Given the description of an element on the screen output the (x, y) to click on. 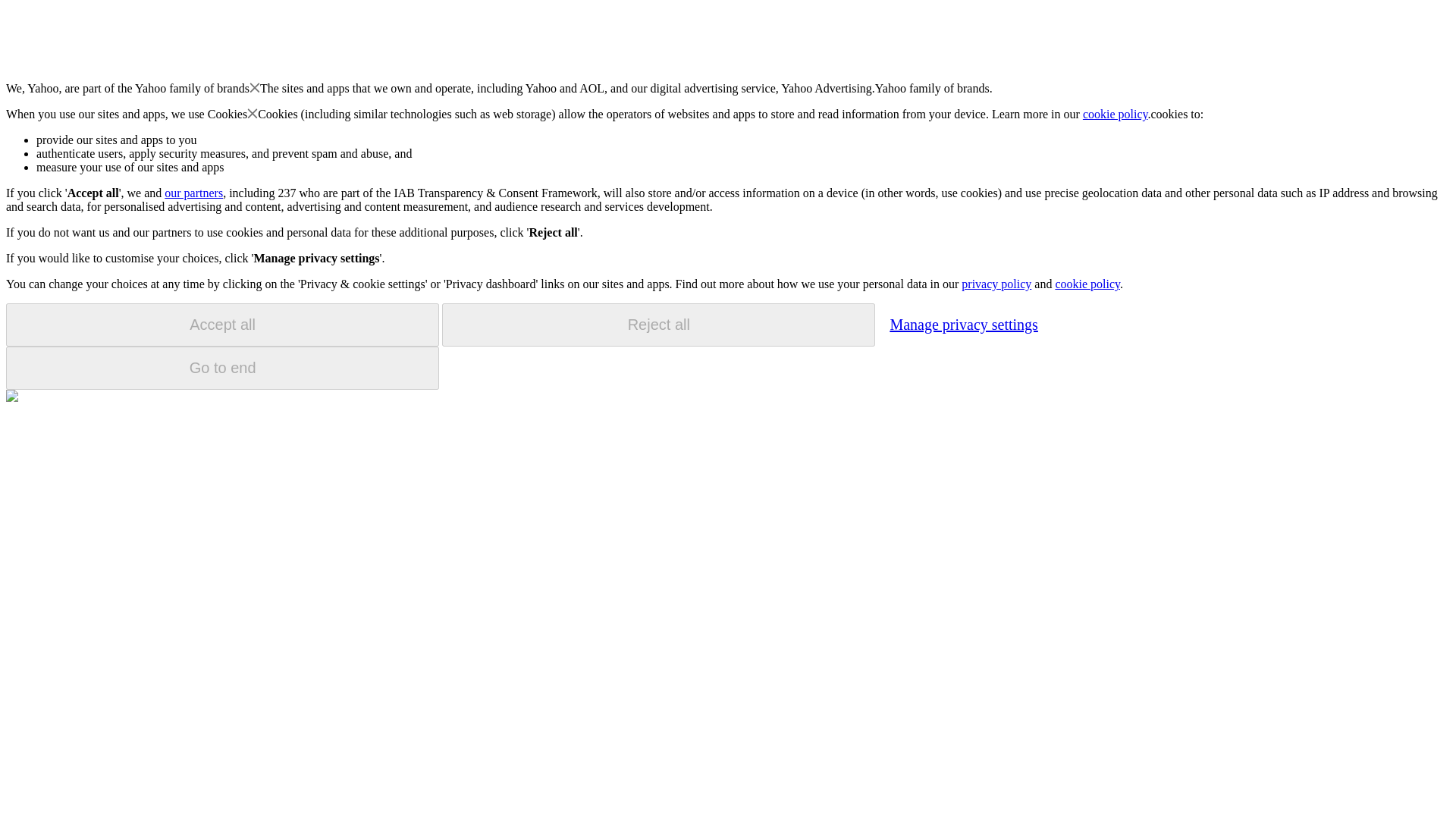
Accept all (222, 324)
our partners (193, 192)
cookie policy (1086, 283)
Go to end (222, 367)
privacy policy (995, 283)
cookie policy (1115, 113)
Reject all (658, 324)
Manage privacy settings (963, 323)
